Given the description of an element on the screen output the (x, y) to click on. 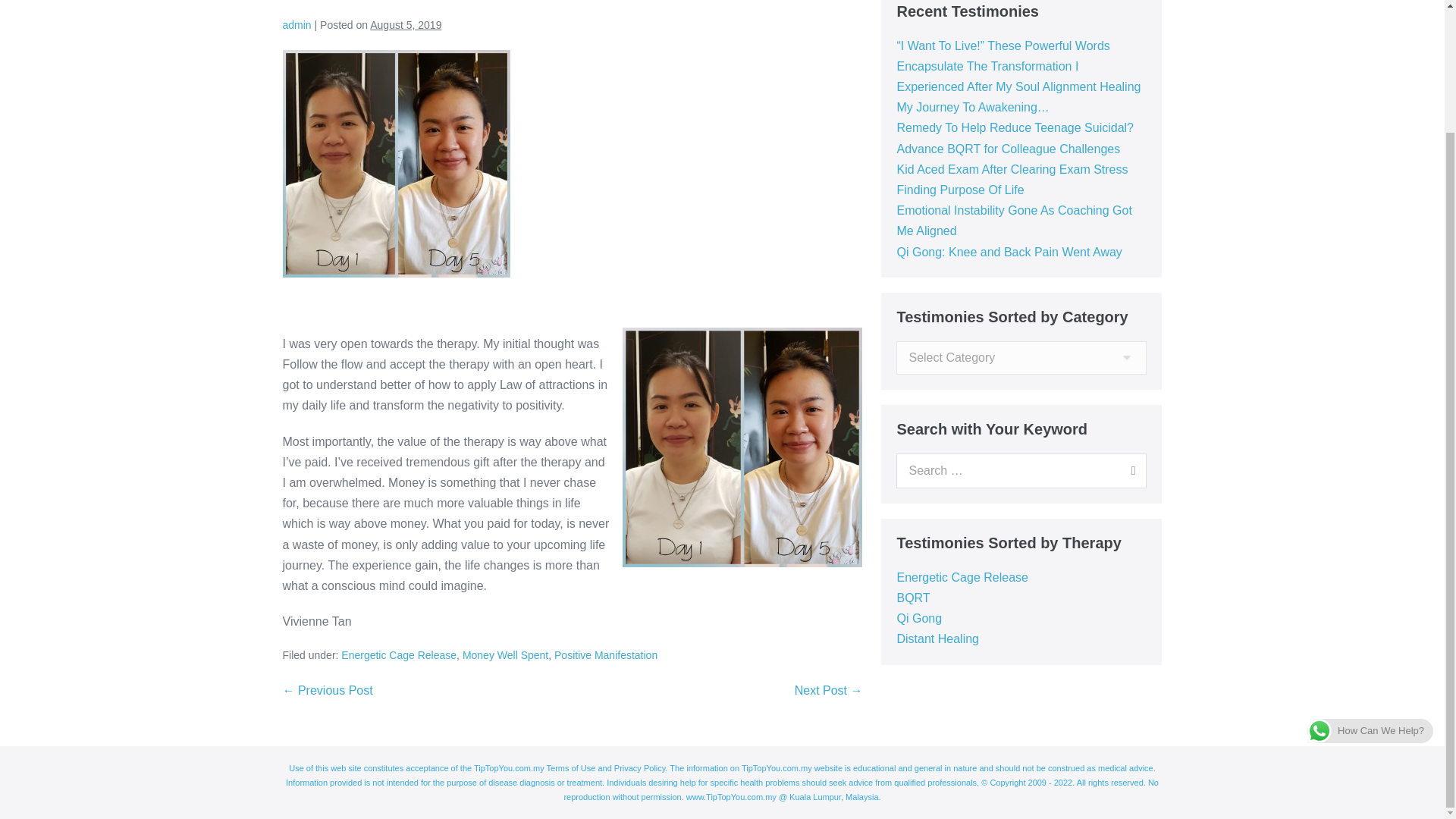
Value above what i paid (395, 163)
Value above what i paid (742, 447)
Press enter to search (1021, 470)
View all posts by admin (296, 24)
